Given the description of an element on the screen output the (x, y) to click on. 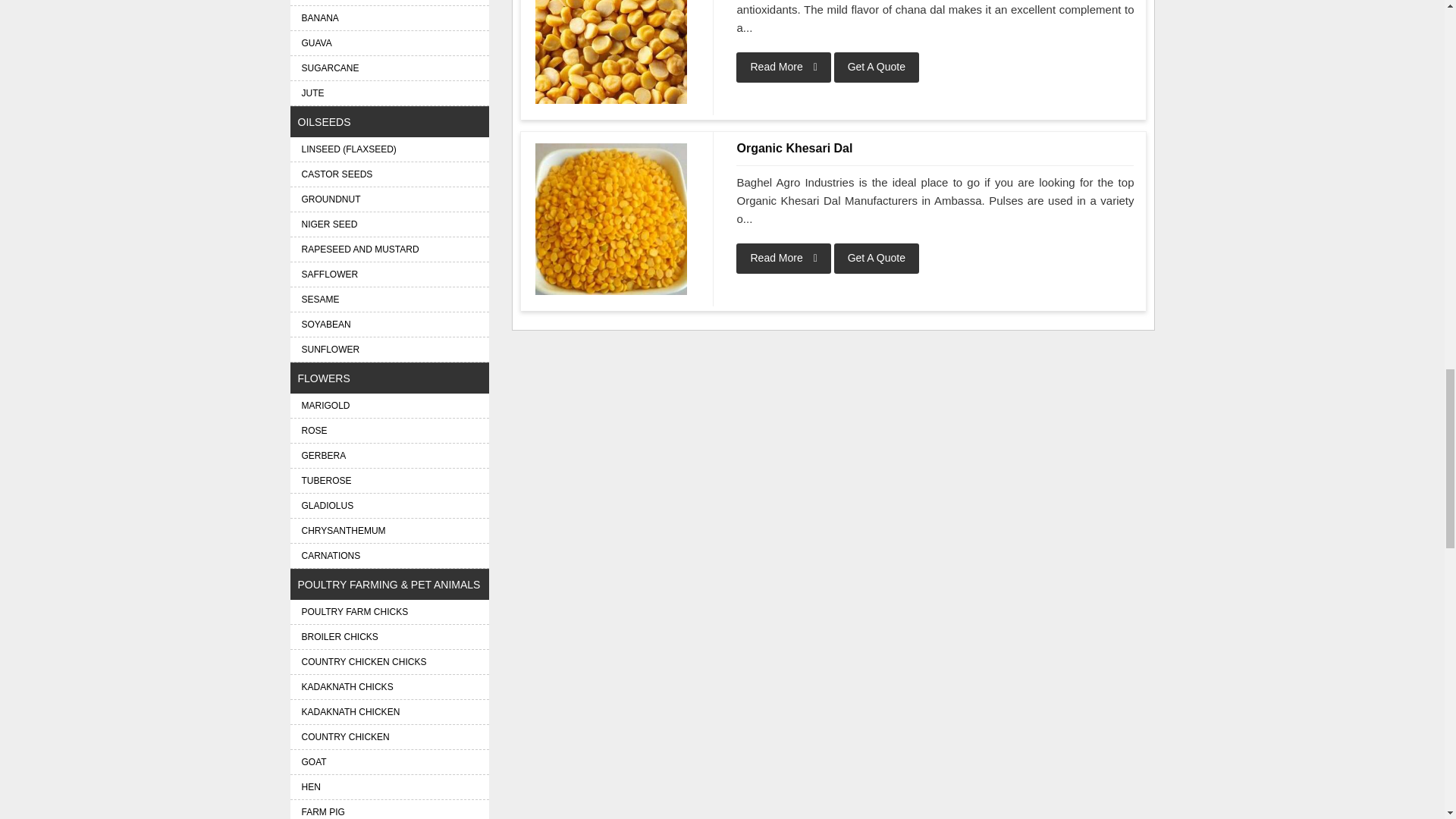
Read More (782, 258)
Organic Khesari Dal (935, 148)
Get A Quote (876, 67)
Get A Quote (876, 258)
Read More (782, 67)
